Given the description of an element on the screen output the (x, y) to click on. 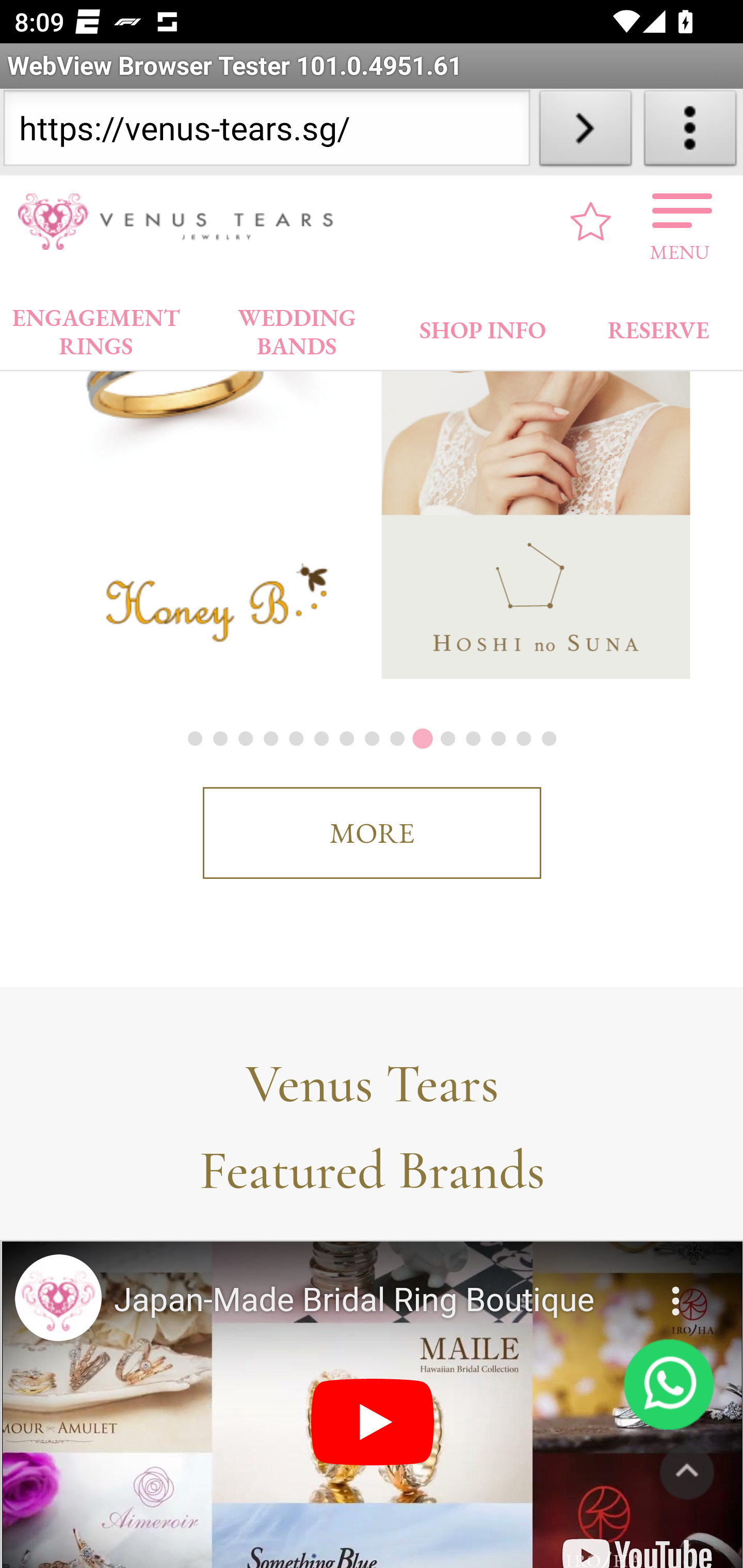
https://venus-tears.sg/ (266, 132)
Load URL (585, 132)
About WebView (690, 132)
favourite (591, 222)
MENU (680, 221)
VENUS TEARS (181, 221)
ENGAGEMENT RINGS ENGAGEMENT RINGS (96, 327)
WEDDING BANDS WEDDING BANDS (296, 327)
SHOP INFO (482, 325)
RESERVE (657, 325)
Go to page 10 (422, 739)
Go to page 1 (194, 738)
Go to page 2 (219, 738)
Go to page 3 (244, 738)
Go to page 4 (269, 738)
Go to page 5 (294, 738)
Go to page 6 (320, 738)
Go to page 7 (346, 738)
Go to page 8 (371, 738)
Go to page 9 (396, 738)
Go to page 11 (447, 738)
Go to page 12 (471, 738)
Go to page 13 (496, 738)
Go to page 14 (522, 738)
Go to page 15 (547, 738)
MORE (371, 834)
More (677, 1289)
Photo image of Venus Tears (58, 1298)
Japan-Made Bridal Ring Boutique (374, 1301)
6585184875 (668, 1385)
Play (372, 1423)
PAGETOP (686, 1473)
Watch on www.youtube.com (636, 1542)
